Given the description of an element on the screen output the (x, y) to click on. 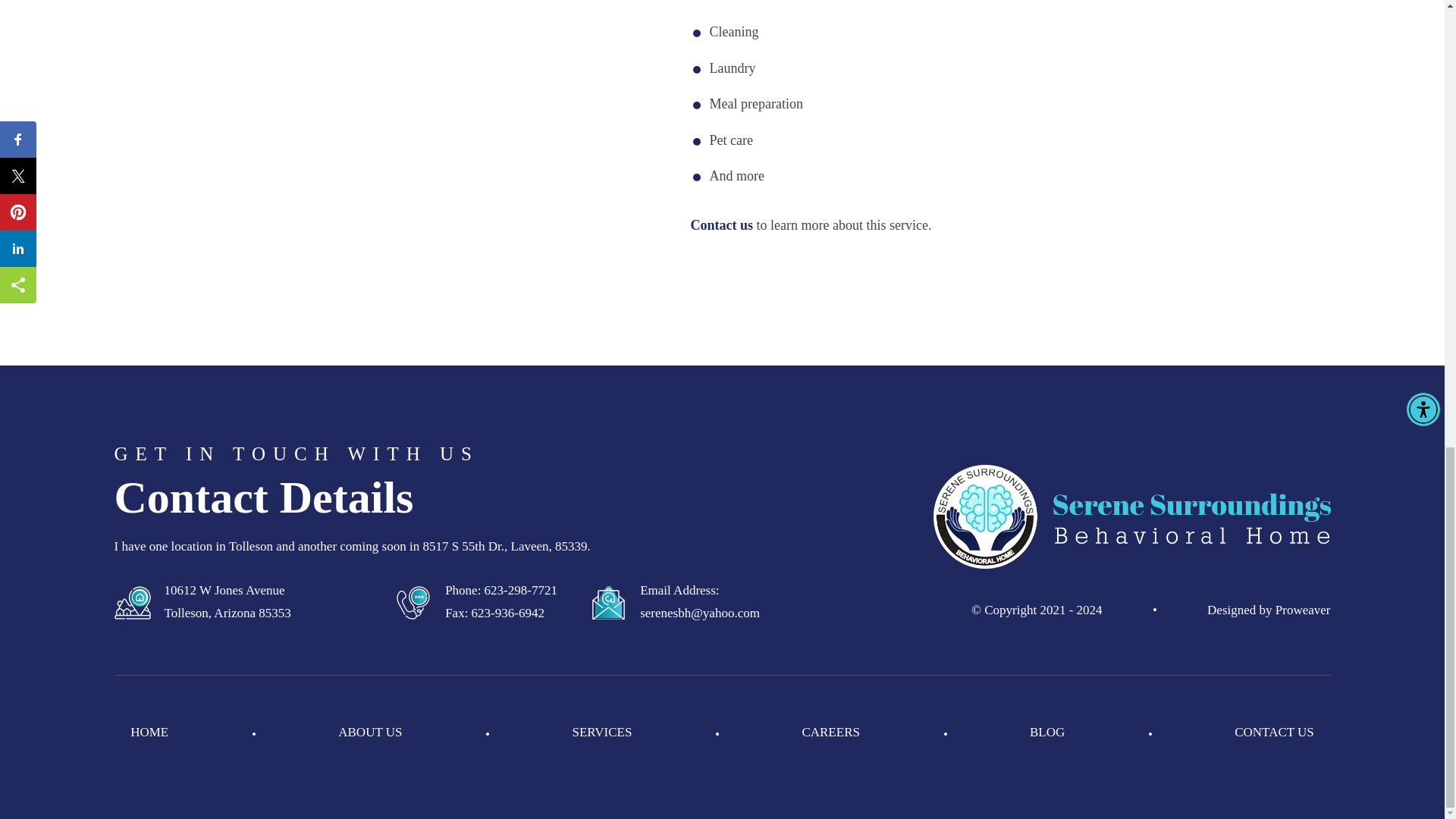
SERVICES (601, 732)
ABOUT US (369, 732)
BLOG (1046, 732)
Proweaver (1302, 609)
HOME (149, 732)
Contact us (721, 224)
CONTACT US (1274, 732)
CAREERS (831, 732)
